Given the description of an element on the screen output the (x, y) to click on. 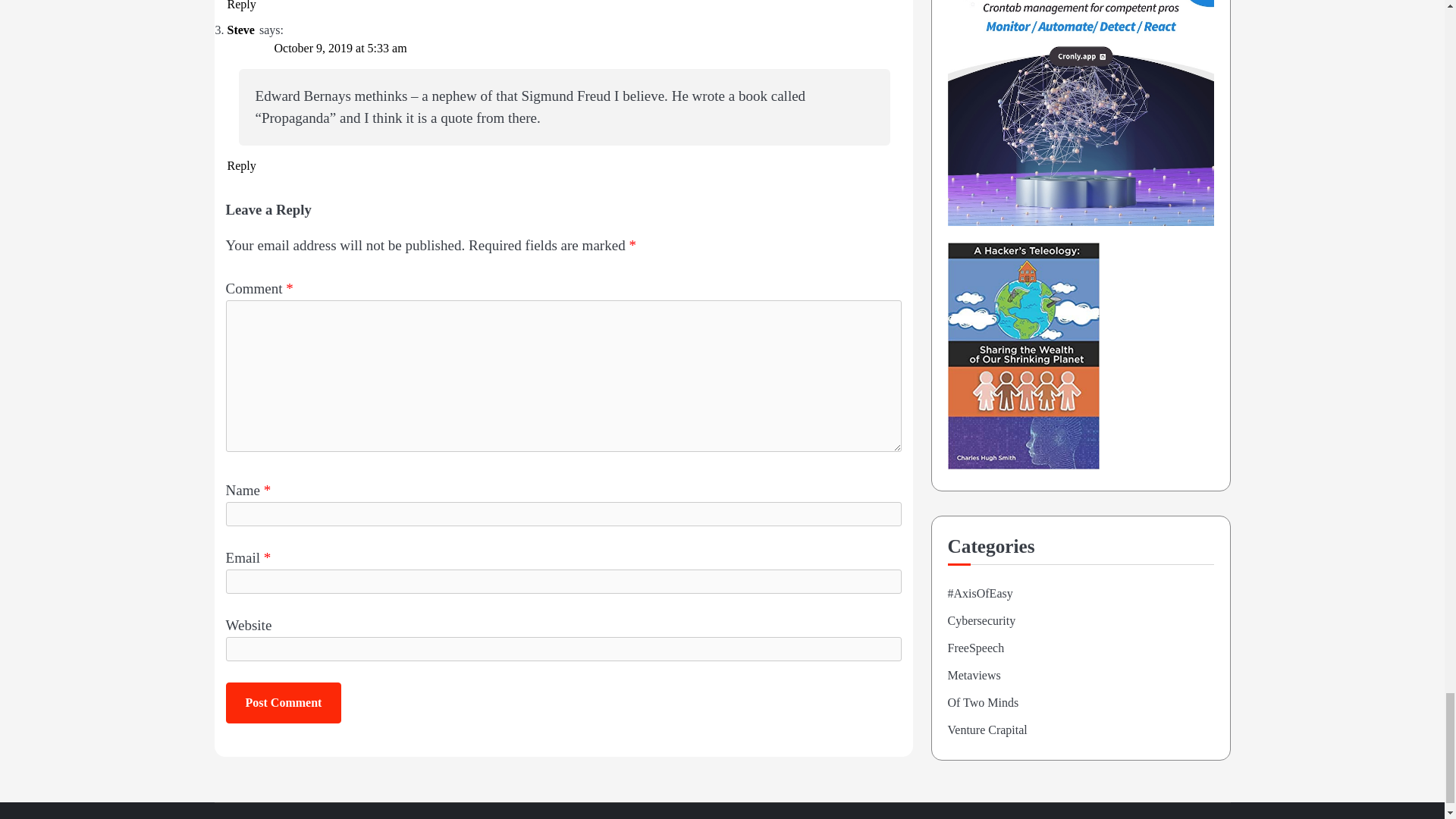
Post Comment (283, 702)
